Given the description of an element on the screen output the (x, y) to click on. 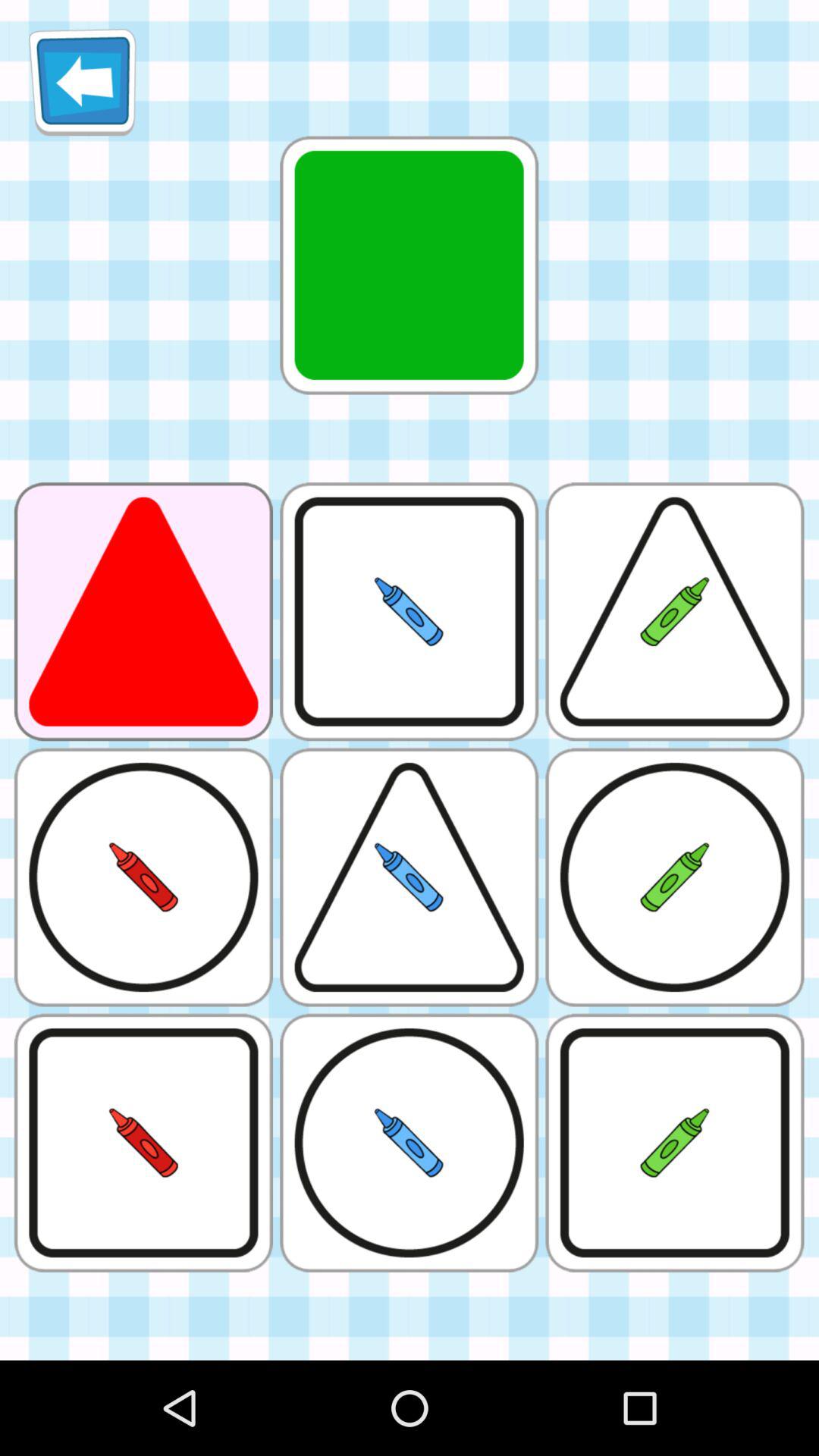
select image which is on the bottom left corner of the page (143, 1142)
click on the circular image which is below the red triangle (143, 877)
select the box which contains a green crayon surrounded by a triangle (674, 611)
select the green box (409, 264)
select the first image from the top (409, 264)
select the last image from top of page (674, 1142)
